Given the description of an element on the screen output the (x, y) to click on. 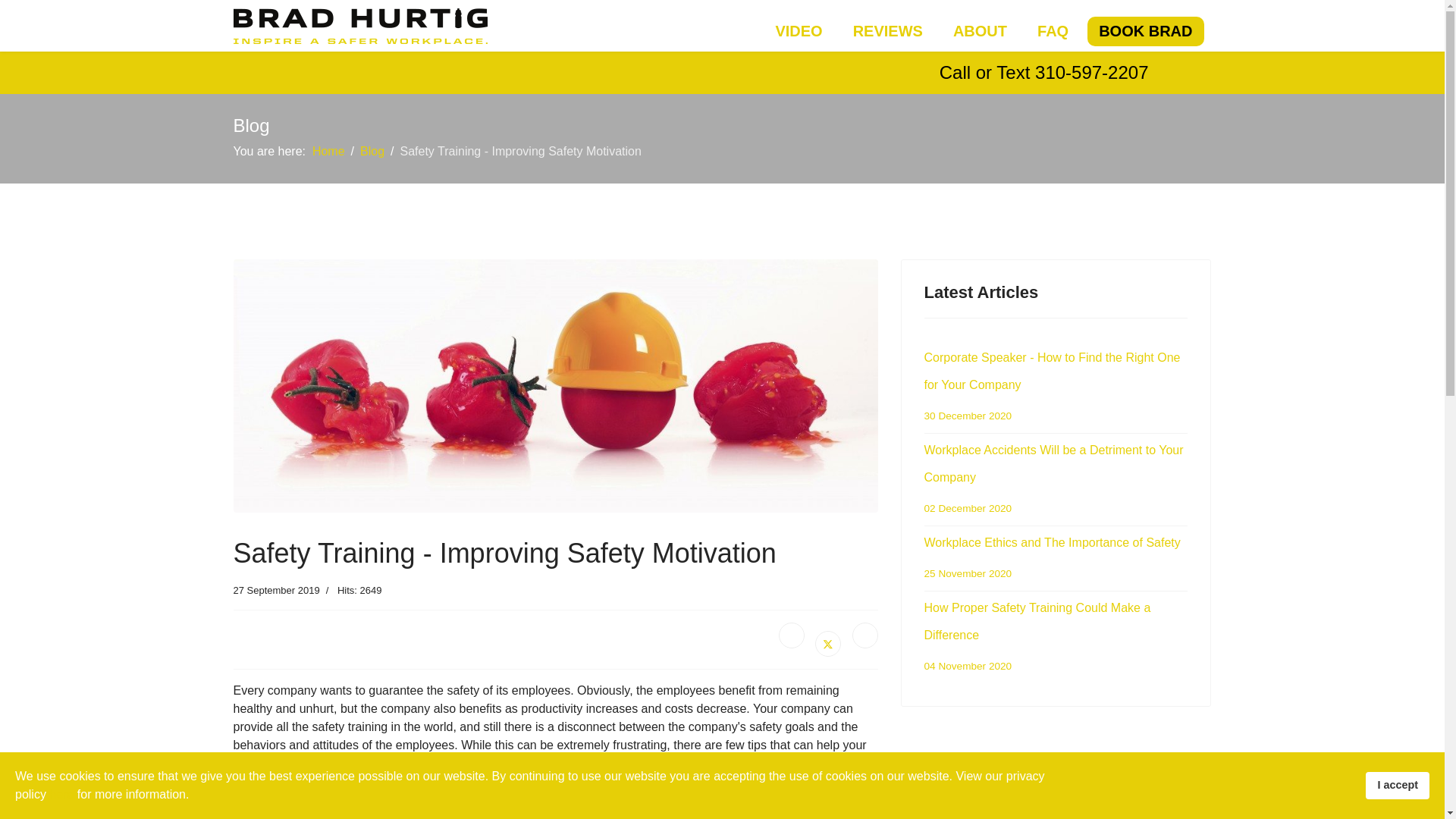
here (61, 793)
310-597-2207 (1091, 72)
Home (329, 151)
I accept (1397, 785)
FAQ (1053, 30)
ABOUT (979, 30)
Facebook (791, 635)
Blog (371, 151)
REVIEWS (887, 30)
LinkedIn (864, 635)
Published: 27 September 2019 (276, 590)
BOOK BRAD (1145, 30)
